Given the description of an element on the screen output the (x, y) to click on. 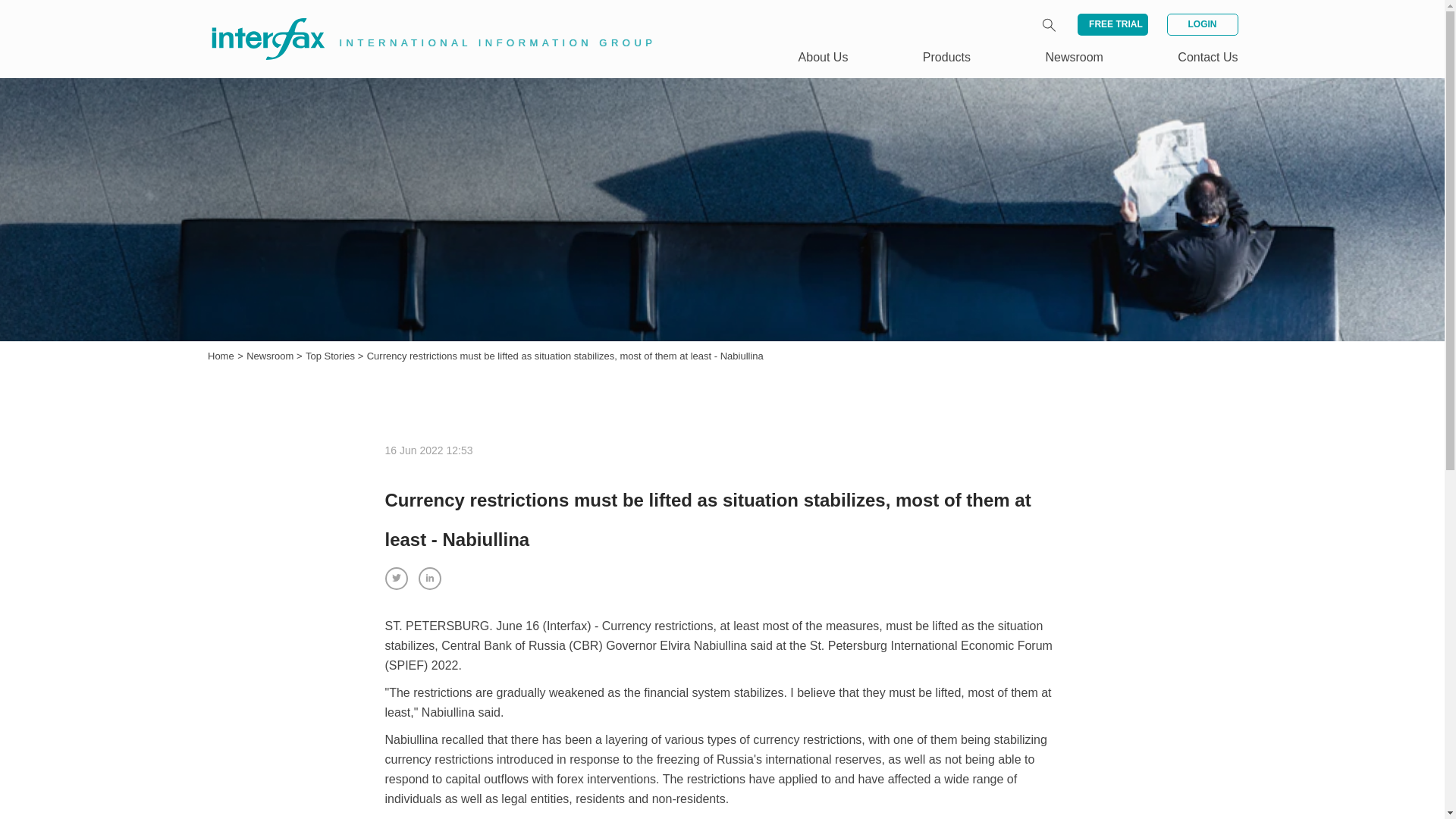
Newsroom (271, 355)
FREE TRIAL (1112, 24)
Top Stories (331, 355)
LOGIN (1201, 24)
INTERNATIONAL INFORMATION GROUP (421, 20)
Contact Us (1207, 56)
Home (221, 355)
Products (947, 56)
Contact Us (1207, 56)
Newsroom (271, 355)
Newsroom (1073, 56)
About Us (822, 56)
